Given the description of an element on the screen output the (x, y) to click on. 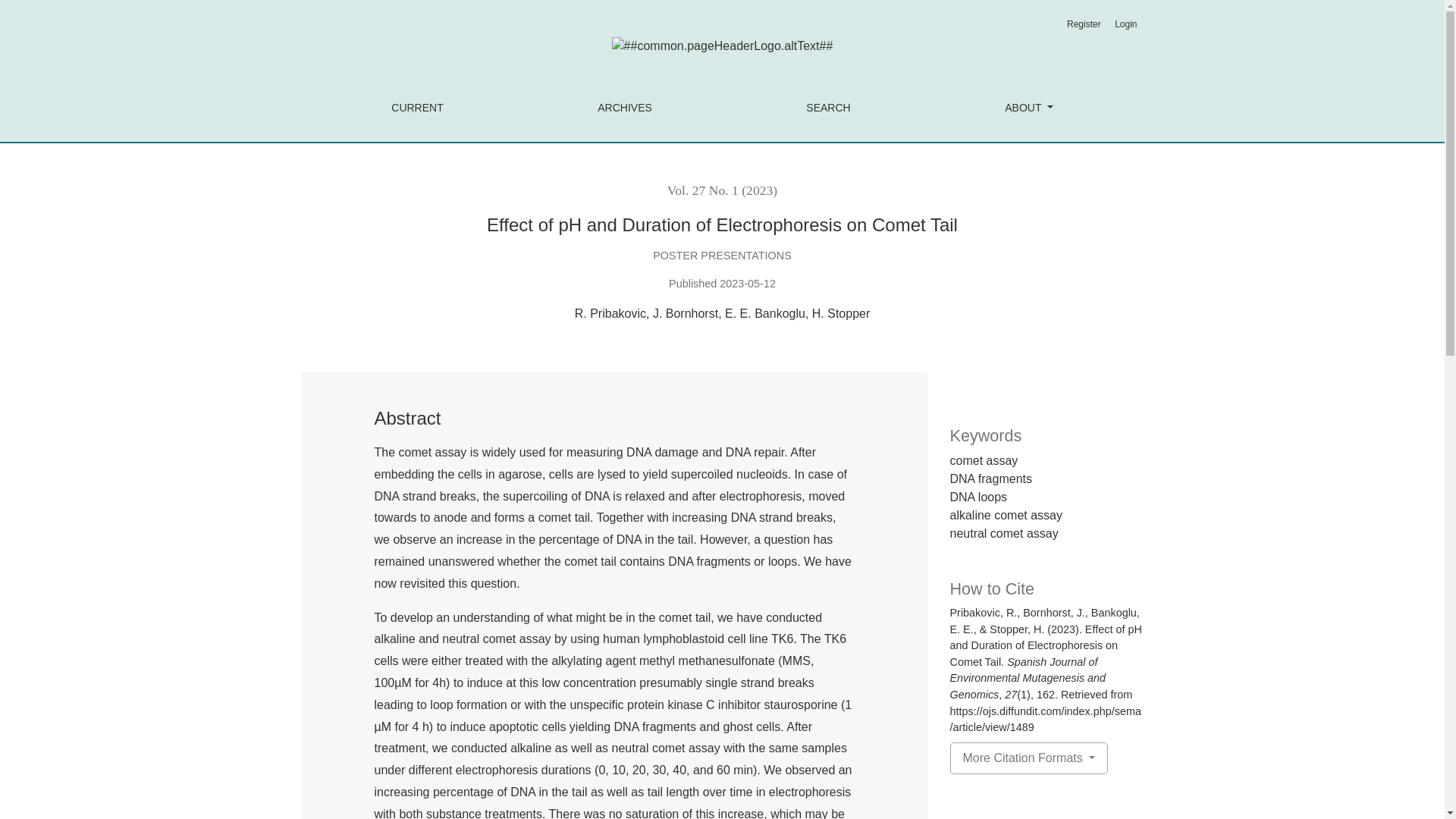
ABOUT (1028, 107)
CURRENT (416, 107)
Login (1125, 24)
ARCHIVES (625, 107)
Register (1083, 24)
More Citation Formats (1028, 757)
SEARCH (828, 107)
